Given the description of an element on the screen output the (x, y) to click on. 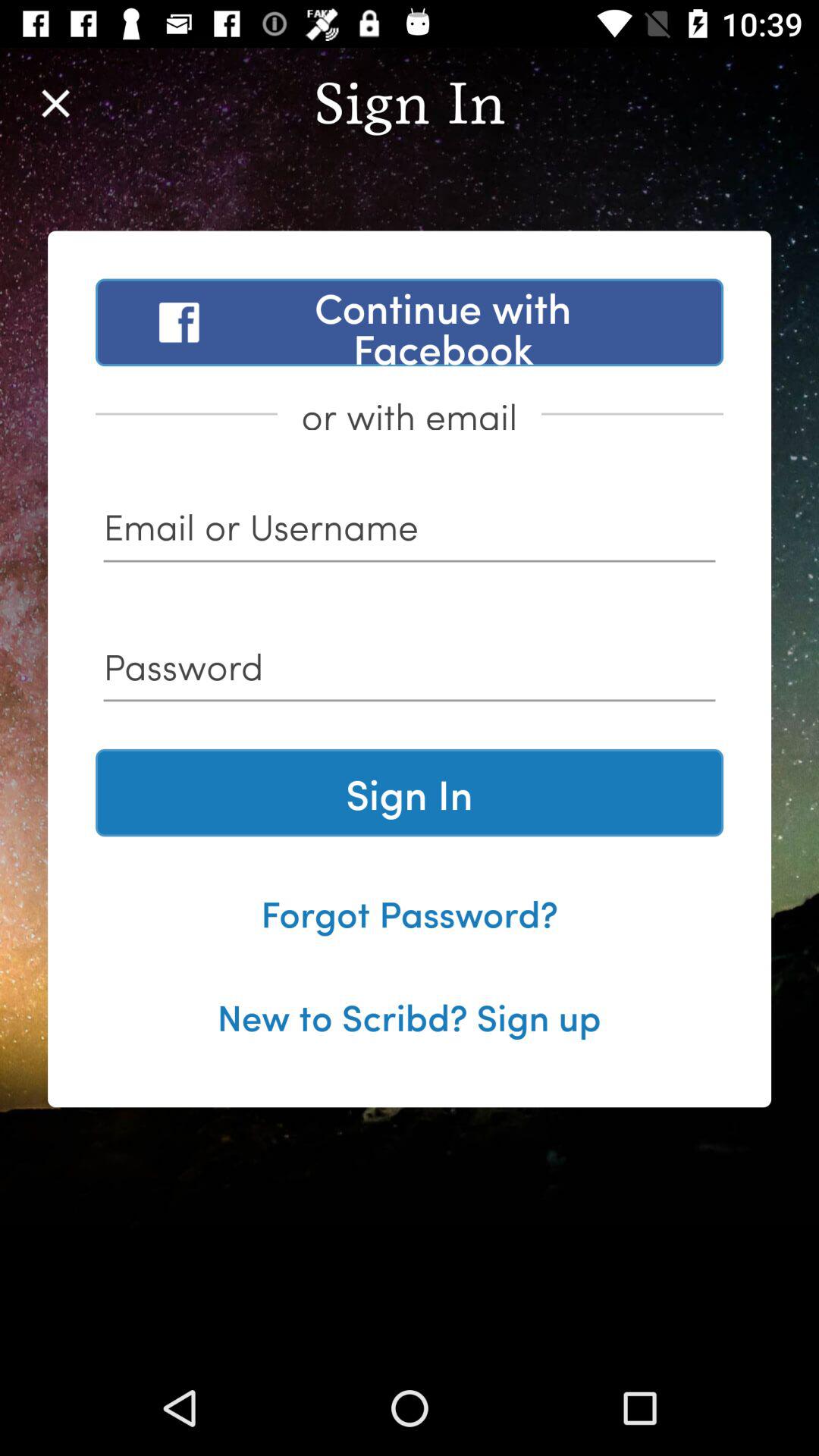
choose item below or with email icon (409, 531)
